Given the description of an element on the screen output the (x, y) to click on. 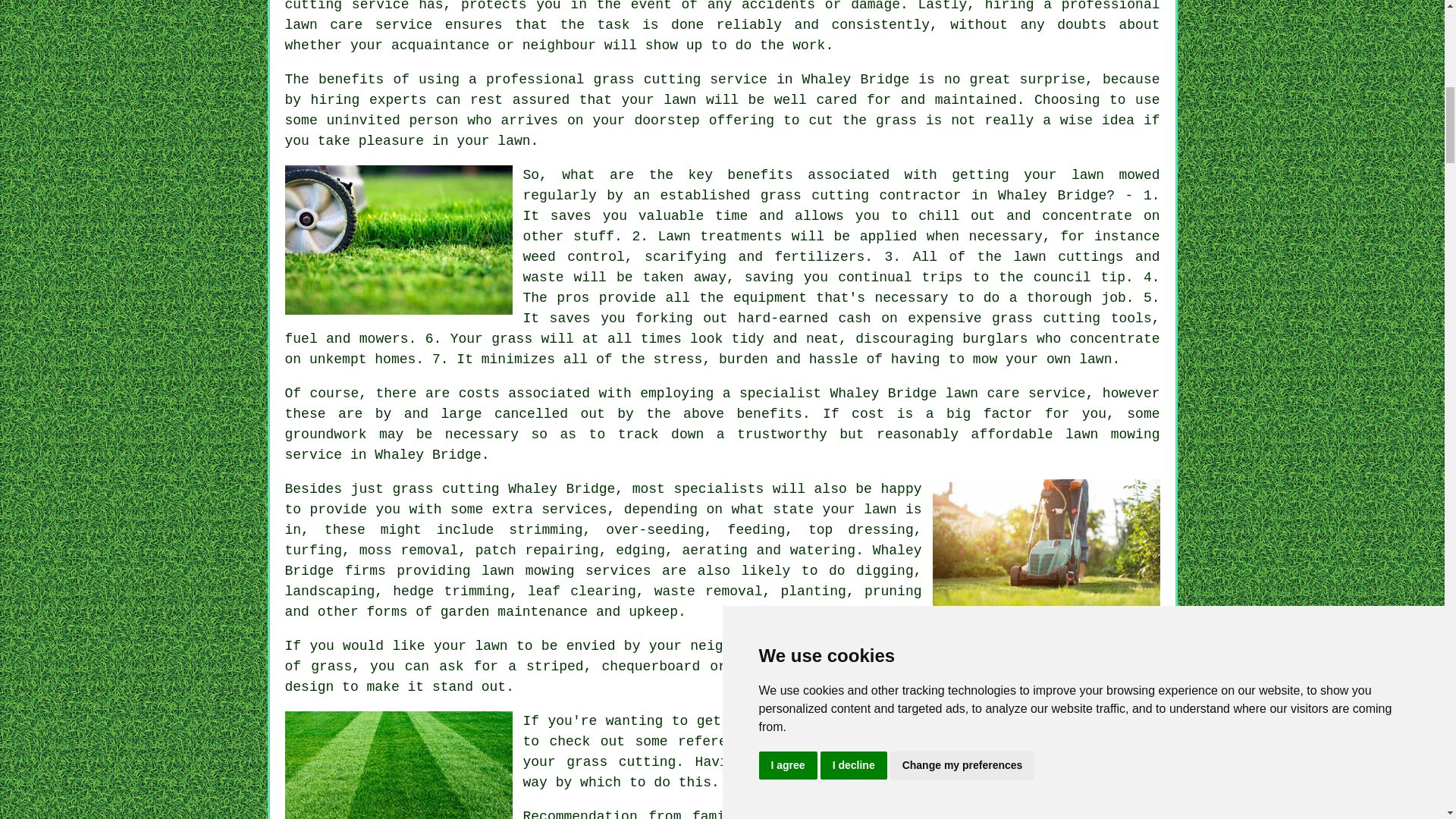
lawn design (722, 676)
Lawn Mowing Whaley Bridge UK (398, 239)
your lawn mowed (1090, 174)
grass cutting service (680, 79)
